Given the description of an element on the screen output the (x, y) to click on. 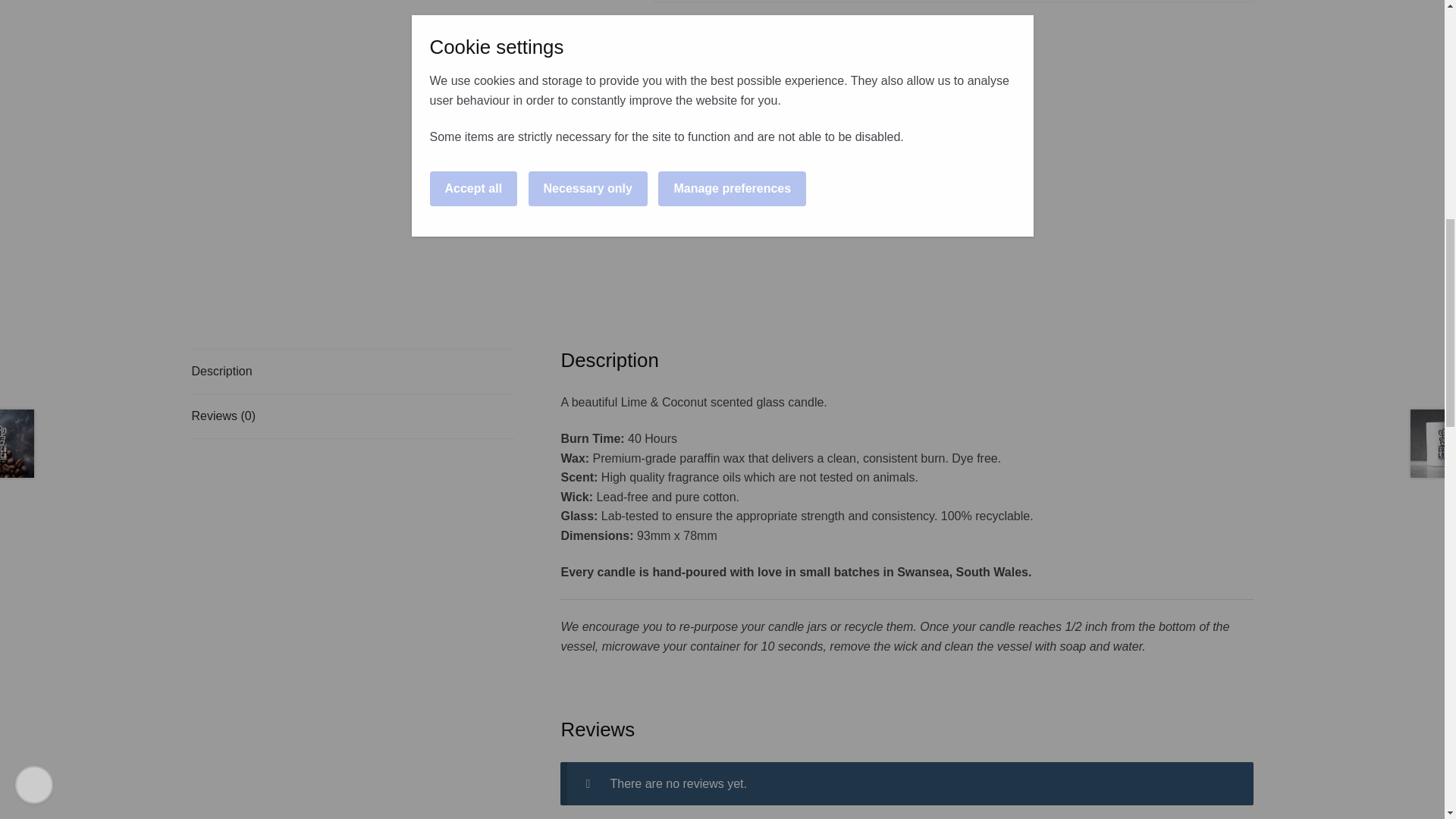
Description (351, 371)
